Given the description of an element on the screen output the (x, y) to click on. 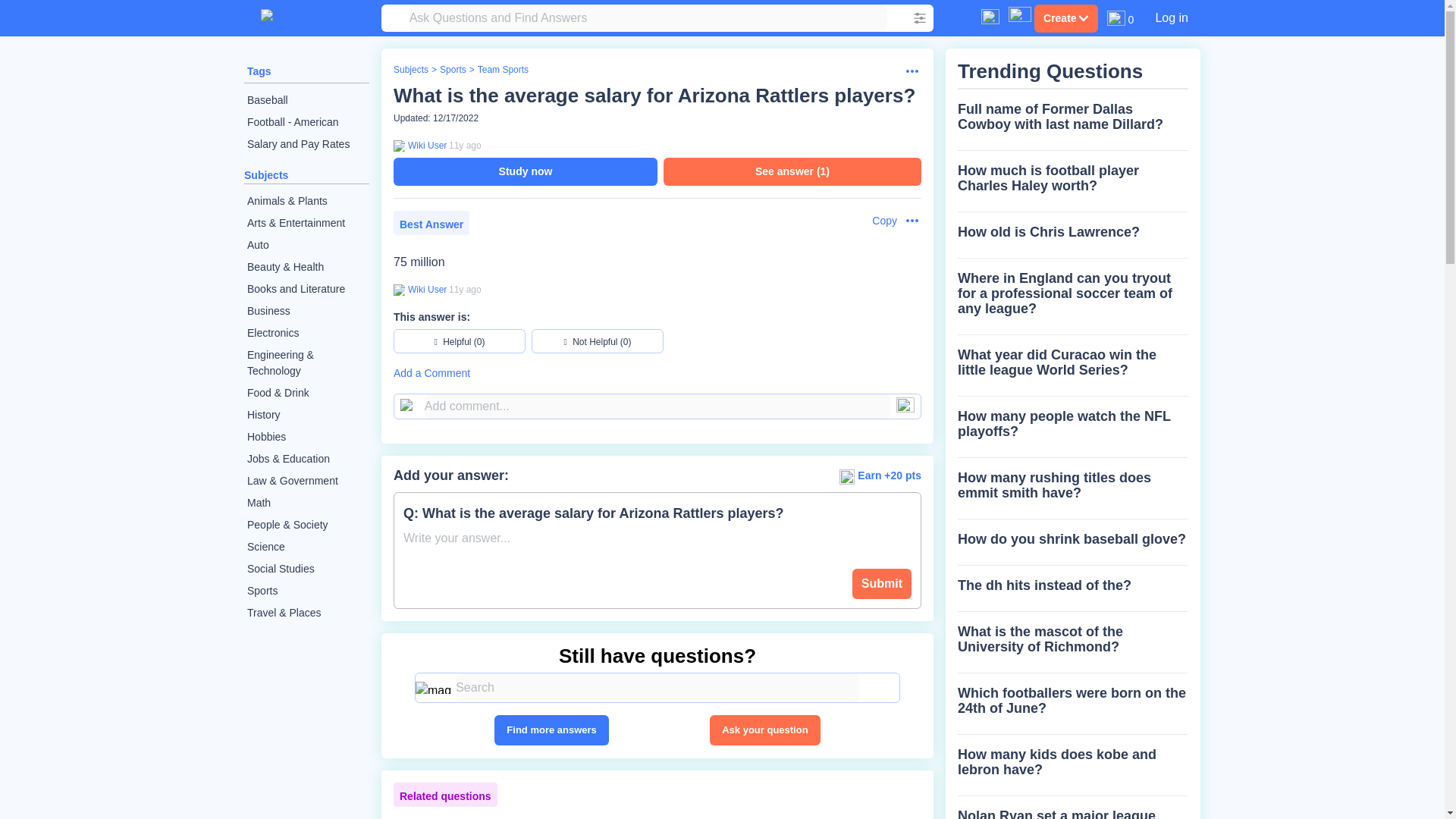
Salary and Pay Rates (306, 144)
Hobbies (306, 436)
Sports (306, 590)
Science (306, 546)
Subjects (266, 174)
Baseball (306, 100)
Sports (452, 69)
What is the average salary for Arizona Rattlers players? (654, 95)
History (306, 414)
Business (306, 311)
